Given the description of an element on the screen output the (x, y) to click on. 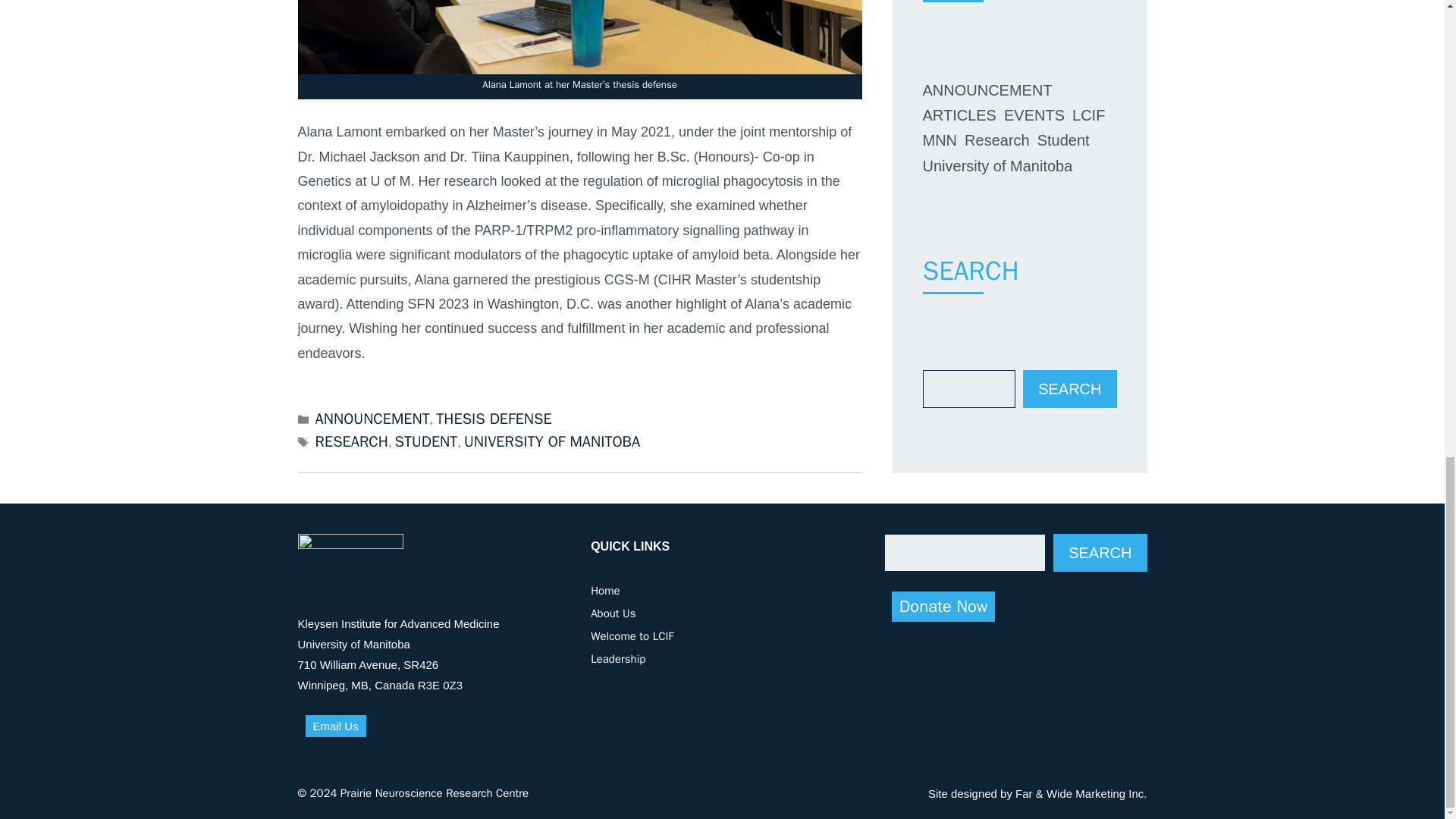
RESEARCH (351, 441)
ARTICLES (958, 115)
STUDENT (426, 441)
ANNOUNCEMENT (986, 89)
ANNOUNCEMENT (372, 418)
EVENTS (1034, 115)
THESIS DEFENSE (493, 418)
UNIVERSITY OF MANITOBA (552, 441)
